Given the description of an element on the screen output the (x, y) to click on. 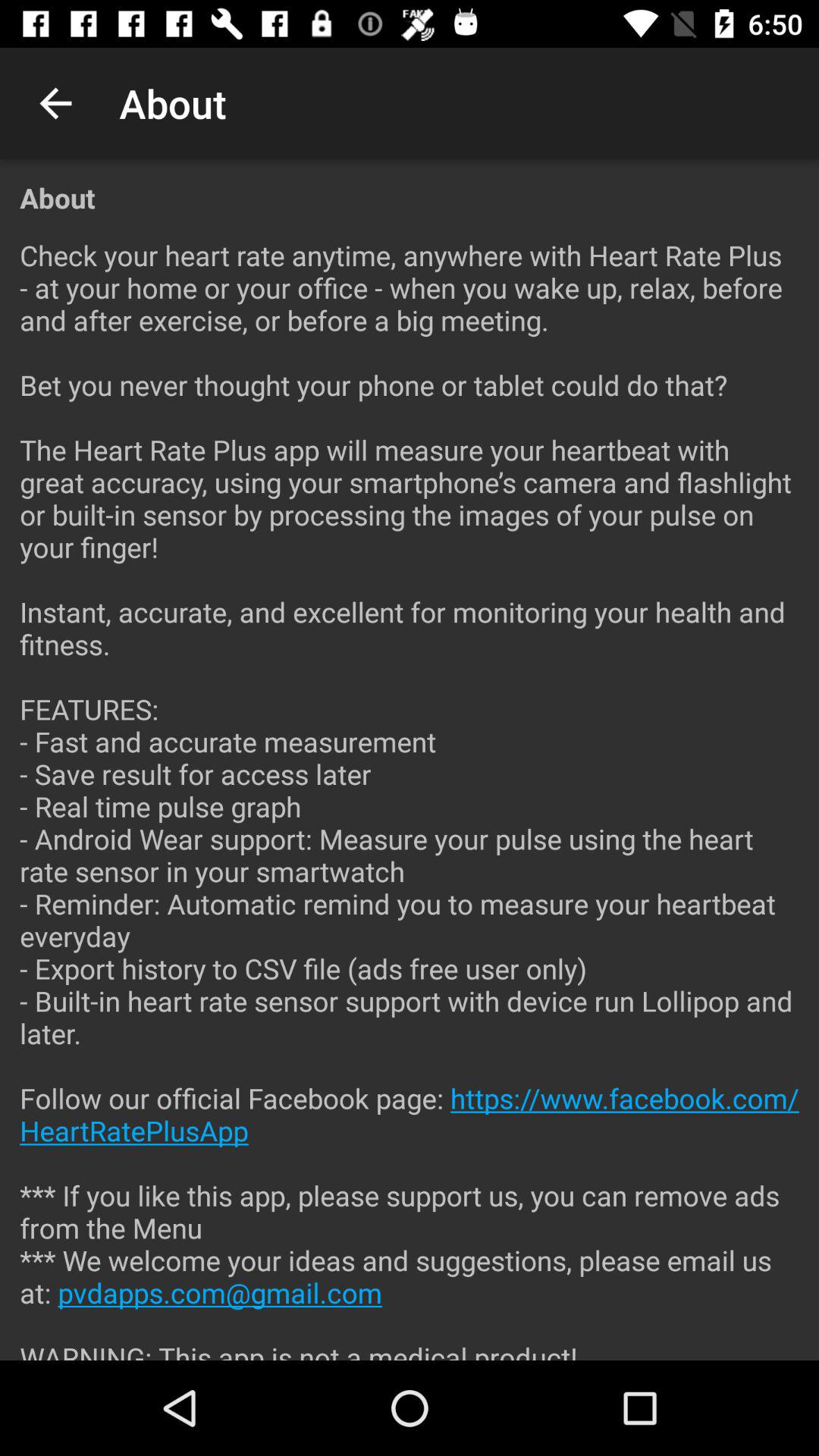
open app next to the about icon (55, 103)
